Given the description of an element on the screen output the (x, y) to click on. 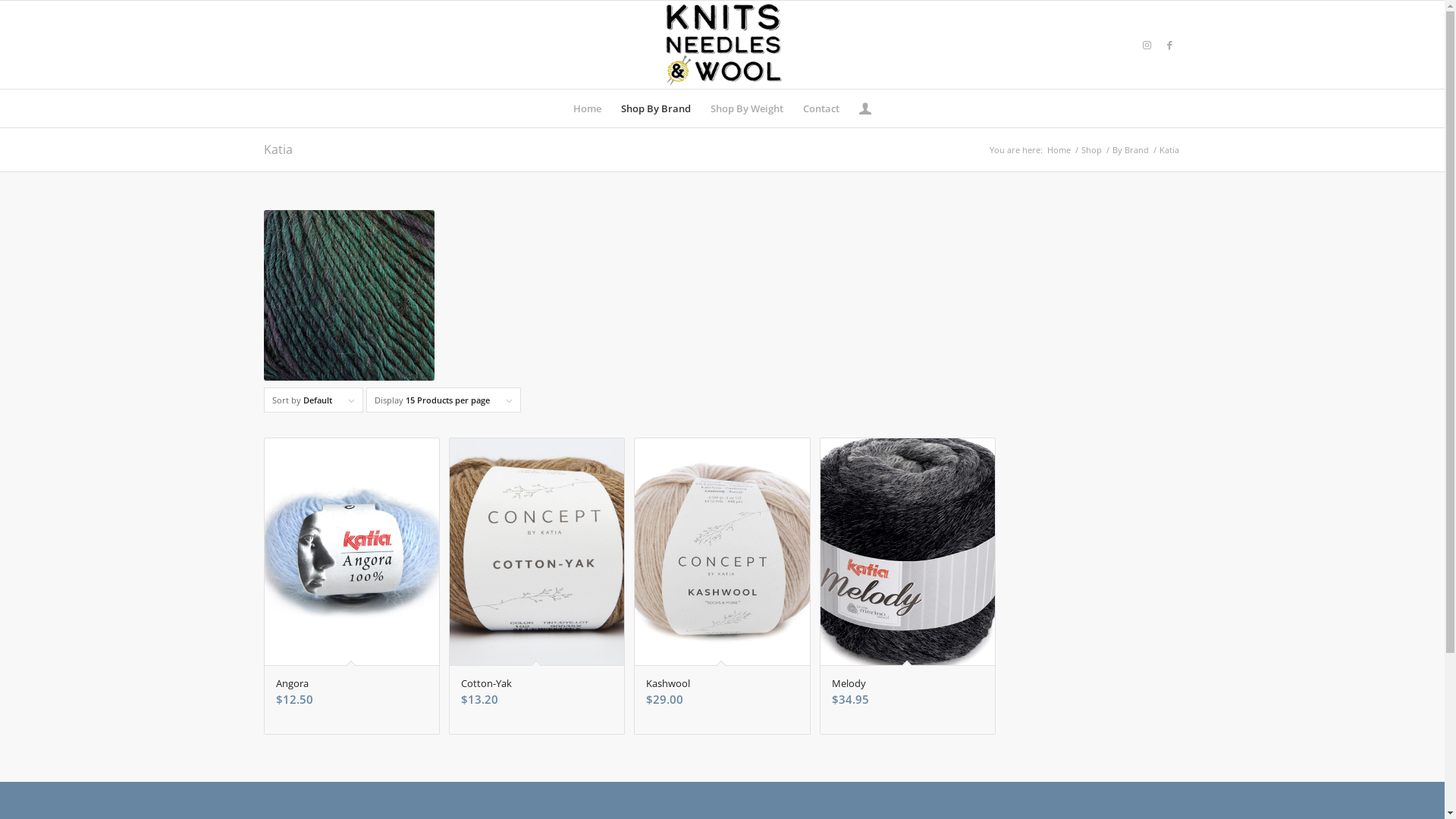
Home Element type: text (587, 108)
Contact Element type: text (821, 108)
Home Element type: text (1058, 149)
Kashwool
$29.00 Element type: text (721, 586)
Melody
$34.95 Element type: text (907, 586)
Shop By Weight Element type: text (746, 108)
Shop By Brand Element type: text (655, 108)
By Brand Element type: text (1130, 149)
Login / Register Element type: hover (865, 108)
Shop Element type: text (1090, 149)
Facebook Element type: hover (1169, 44)
Cotton-Yak
$13.20 Element type: text (536, 586)
knw-logo-x340 Element type: hover (721, 44)
Angora
$12.50 Element type: text (350, 586)
Instagram Element type: hover (1146, 44)
